Given the description of an element on the screen output the (x, y) to click on. 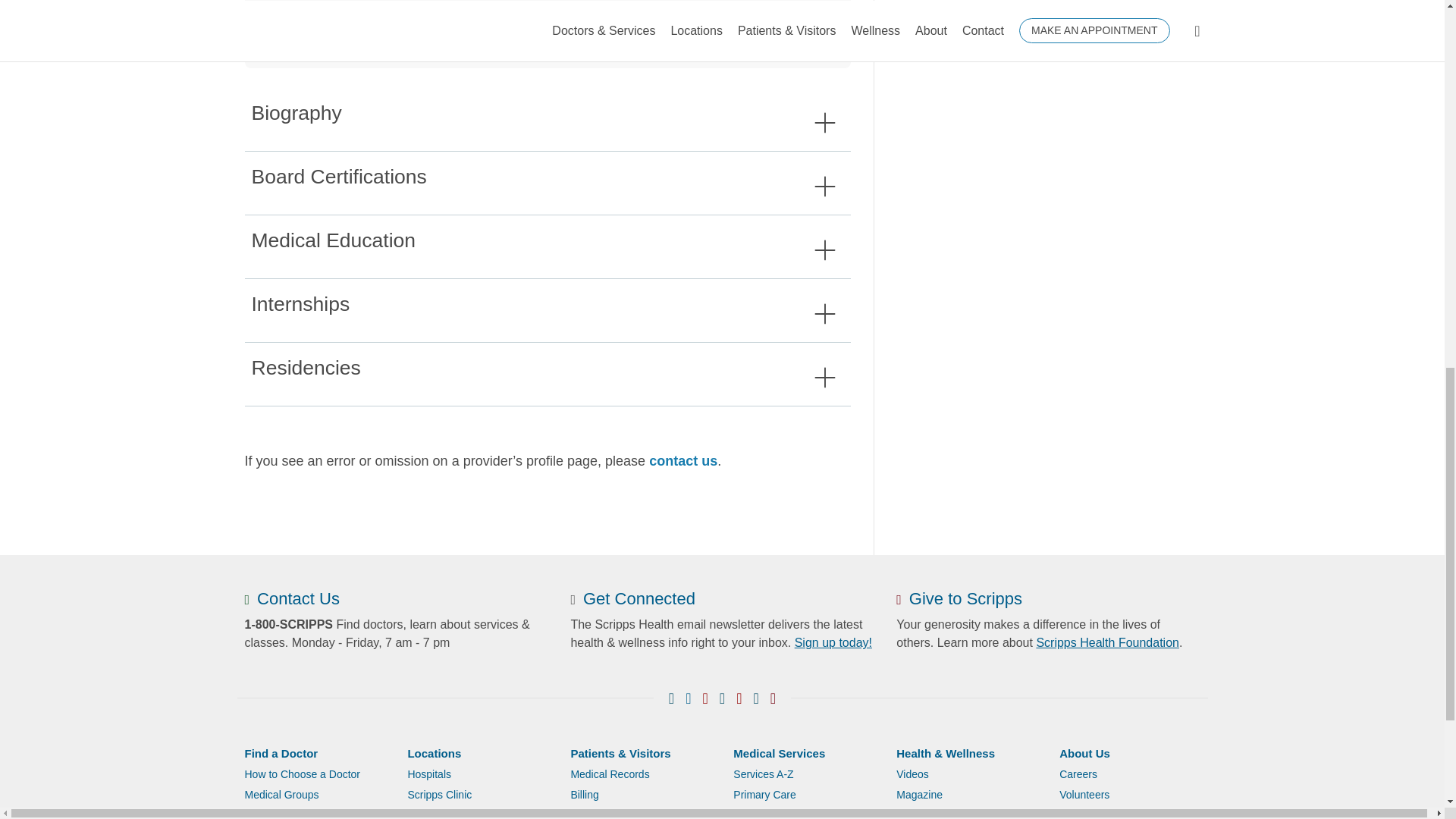
1-800-SCRIPPS (288, 624)
